Given the description of an element on the screen output the (x, y) to click on. 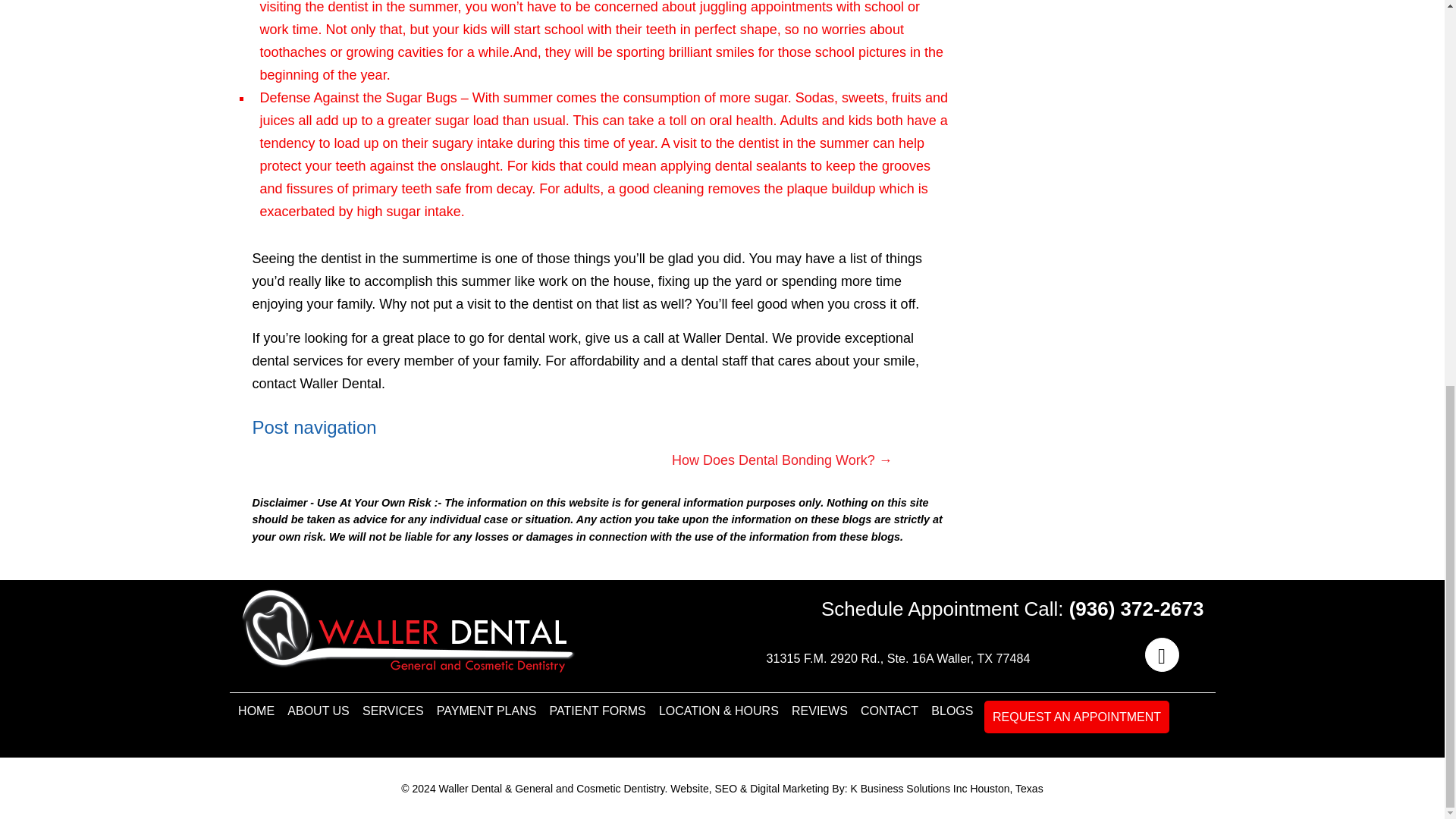
CONTACT (888, 708)
REVIEWS (819, 708)
HOME (255, 708)
ABOUT US (318, 708)
Facebook (1158, 657)
PATIENT FORMS (596, 708)
PAYMENT PLANS (486, 708)
SERVICES (392, 708)
